Given the description of an element on the screen output the (x, y) to click on. 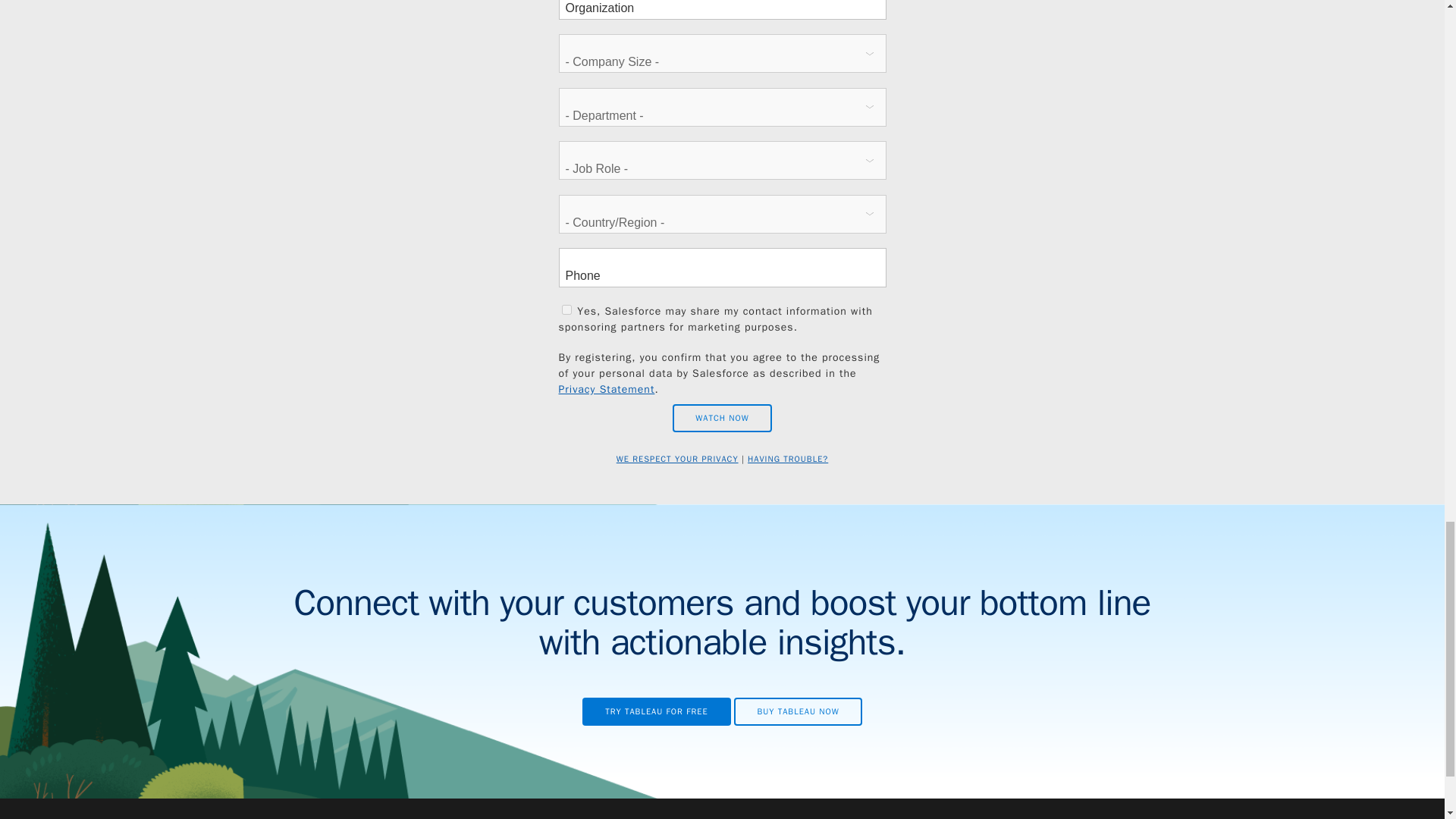
1 (565, 309)
Watch now (721, 418)
